Given the description of an element on the screen output the (x, y) to click on. 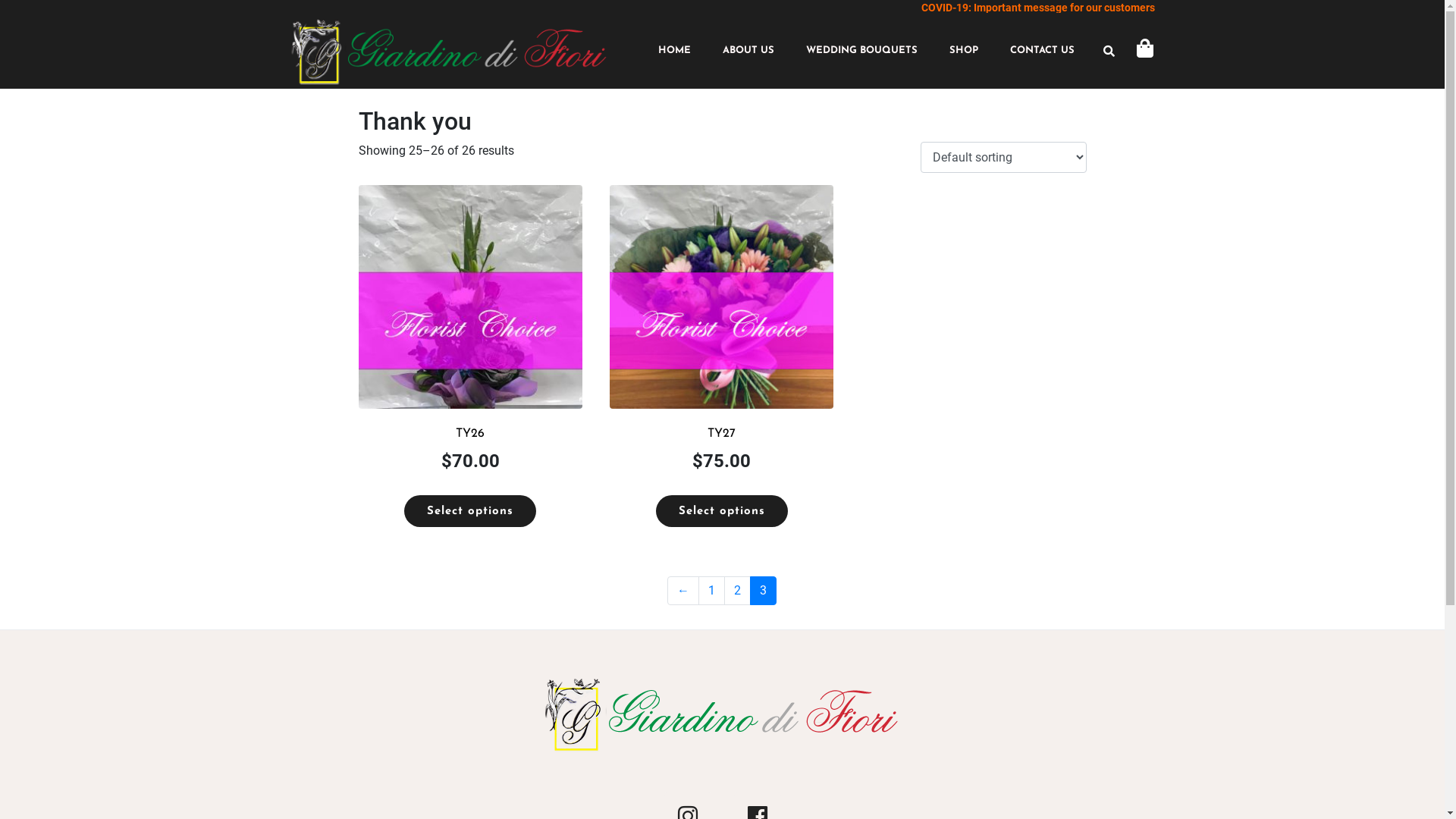
Select options Element type: text (470, 511)
ABOUT US Element type: text (747, 50)
SHOP Element type: text (963, 50)
CONTACT US Element type: text (1041, 50)
WEDDING BOUQUETS Element type: text (860, 50)
TY26
$70.00 Element type: text (469, 348)
1 Element type: text (711, 590)
Select options Element type: text (721, 511)
TY27
$75.00 Element type: text (721, 348)
HOME Element type: text (674, 50)
2 Element type: text (737, 590)
COVID-19: Important message for our customers Element type: text (1037, 7)
